Given the description of an element on the screen output the (x, y) to click on. 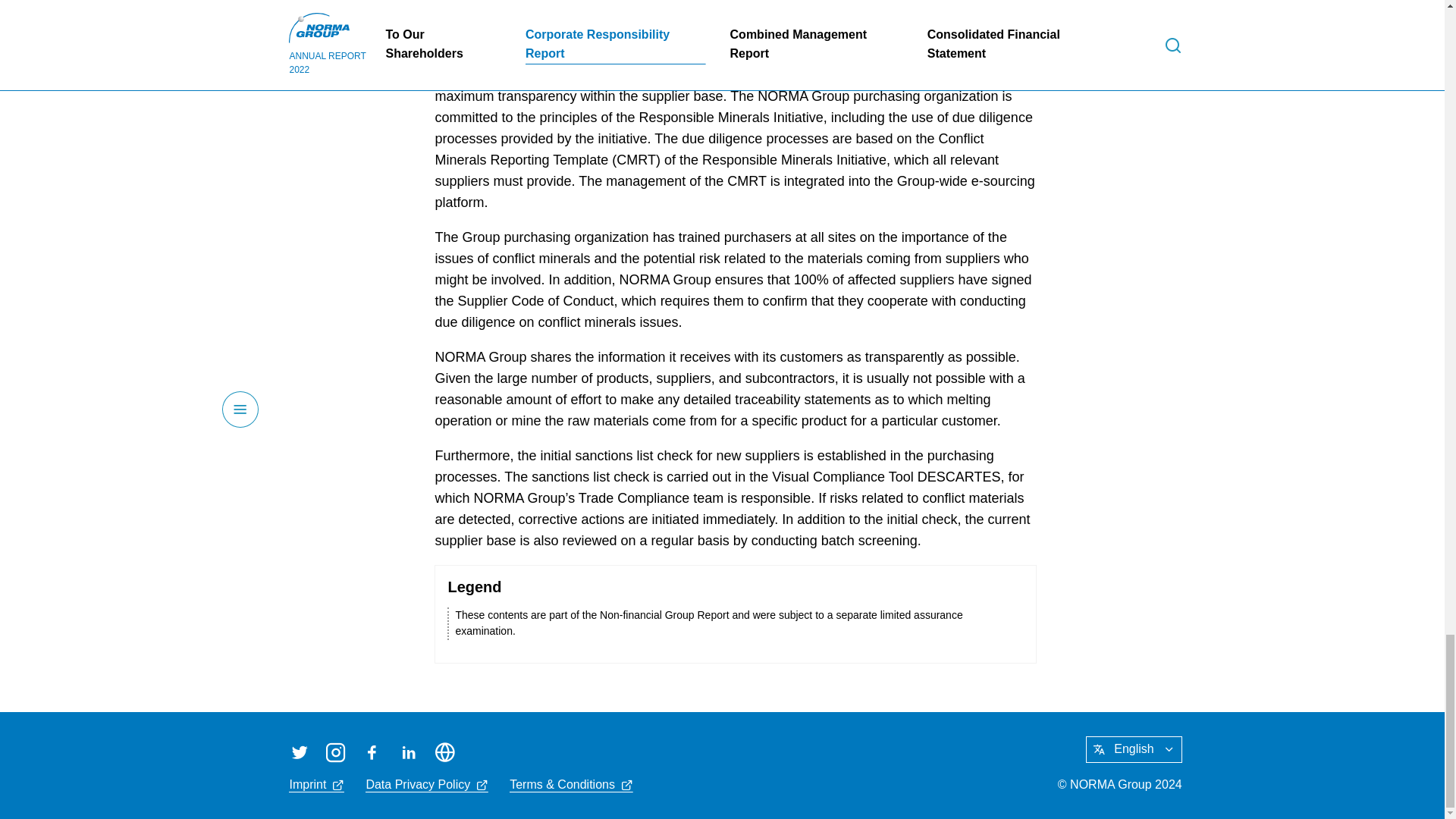
LinkedIn (408, 752)
Instagram (335, 752)
Facebook (371, 752)
Twitter (299, 752)
NORMA Group Website (444, 752)
